Given the description of an element on the screen output the (x, y) to click on. 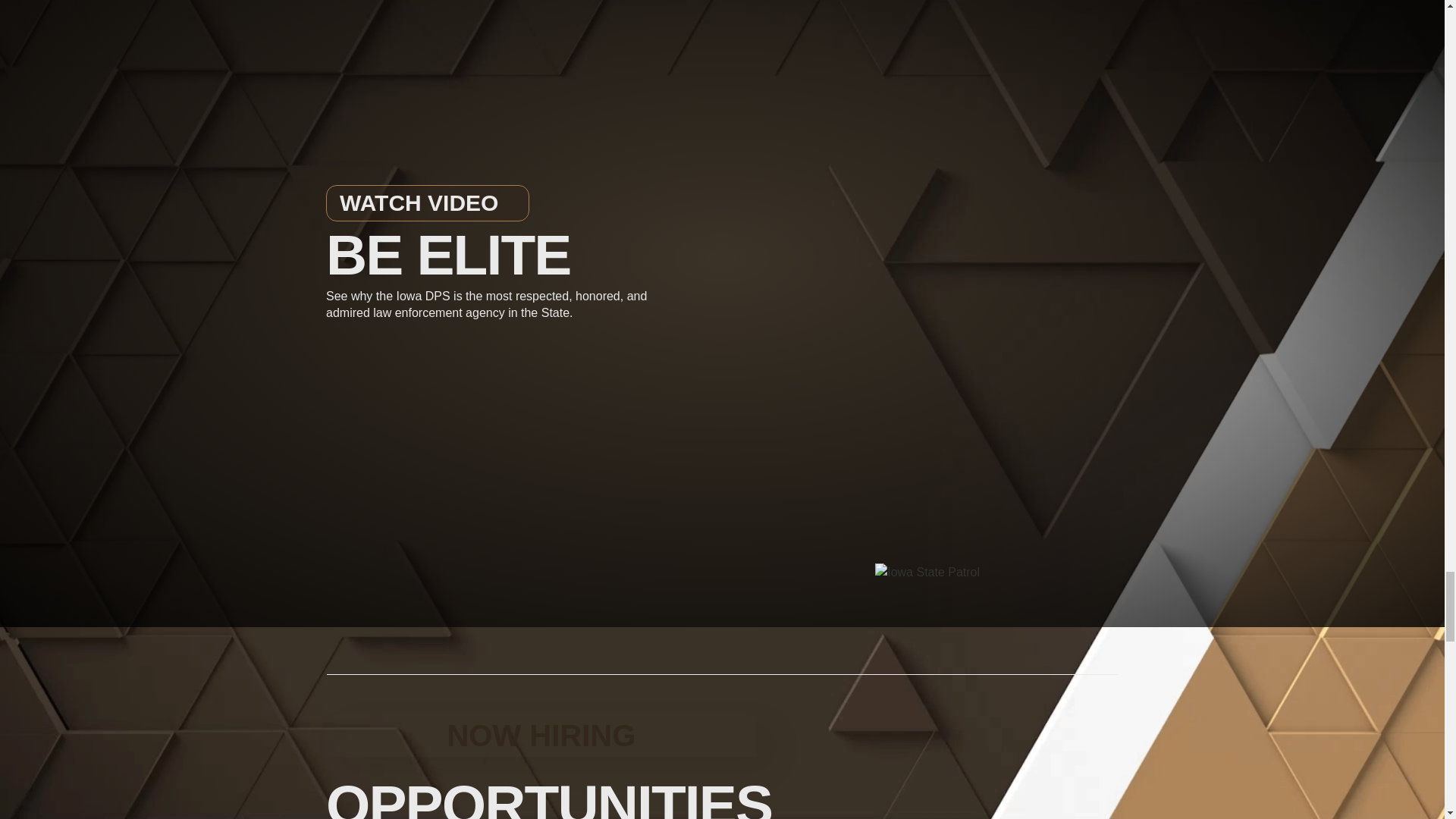
WATCH VIDEO (427, 203)
